Given the description of an element on the screen output the (x, y) to click on. 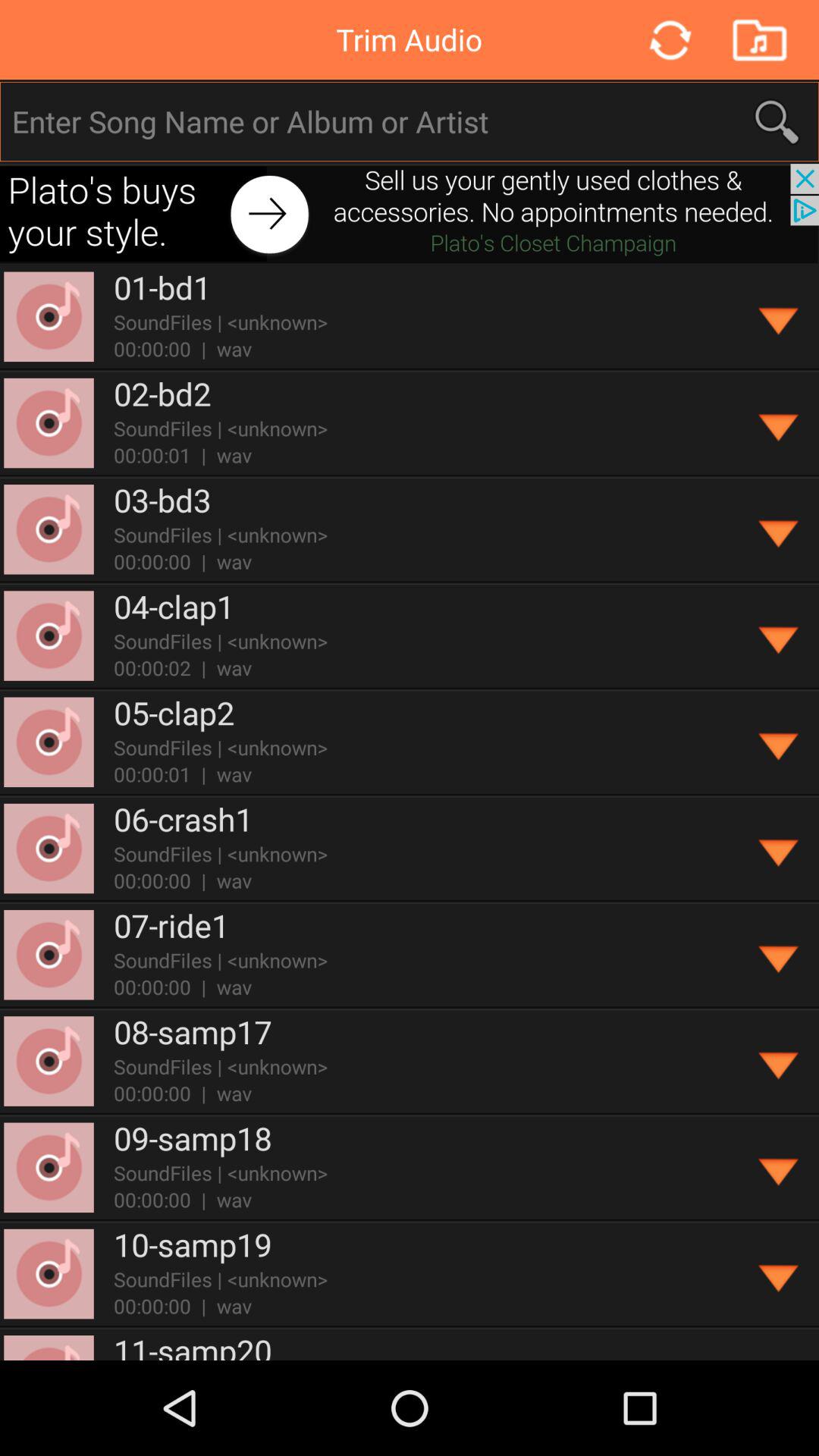
go to next (409, 213)
